Given the description of an element on the screen output the (x, y) to click on. 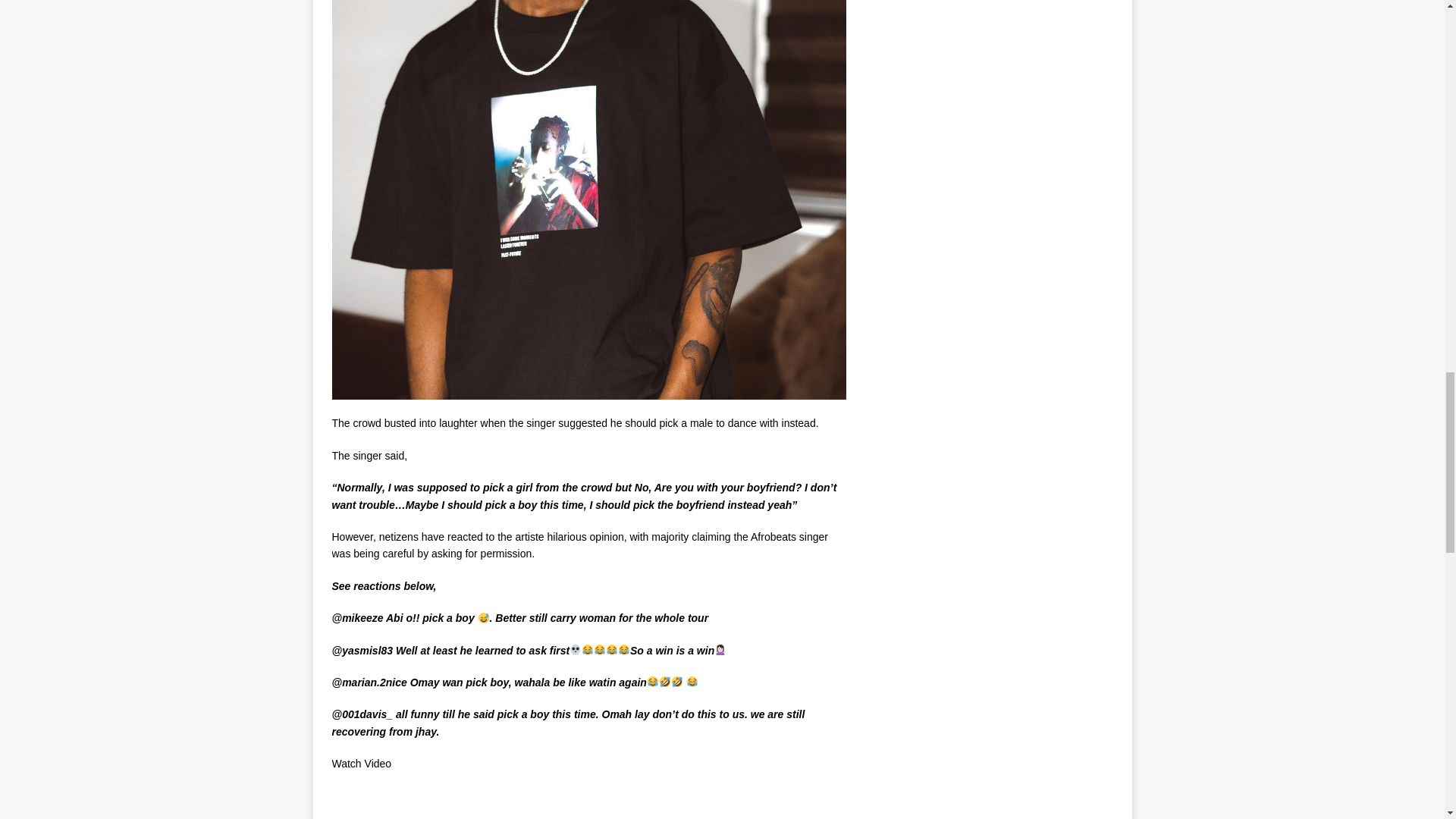
VideoPress Video Player (469, 803)
